Given the description of an element on the screen output the (x, y) to click on. 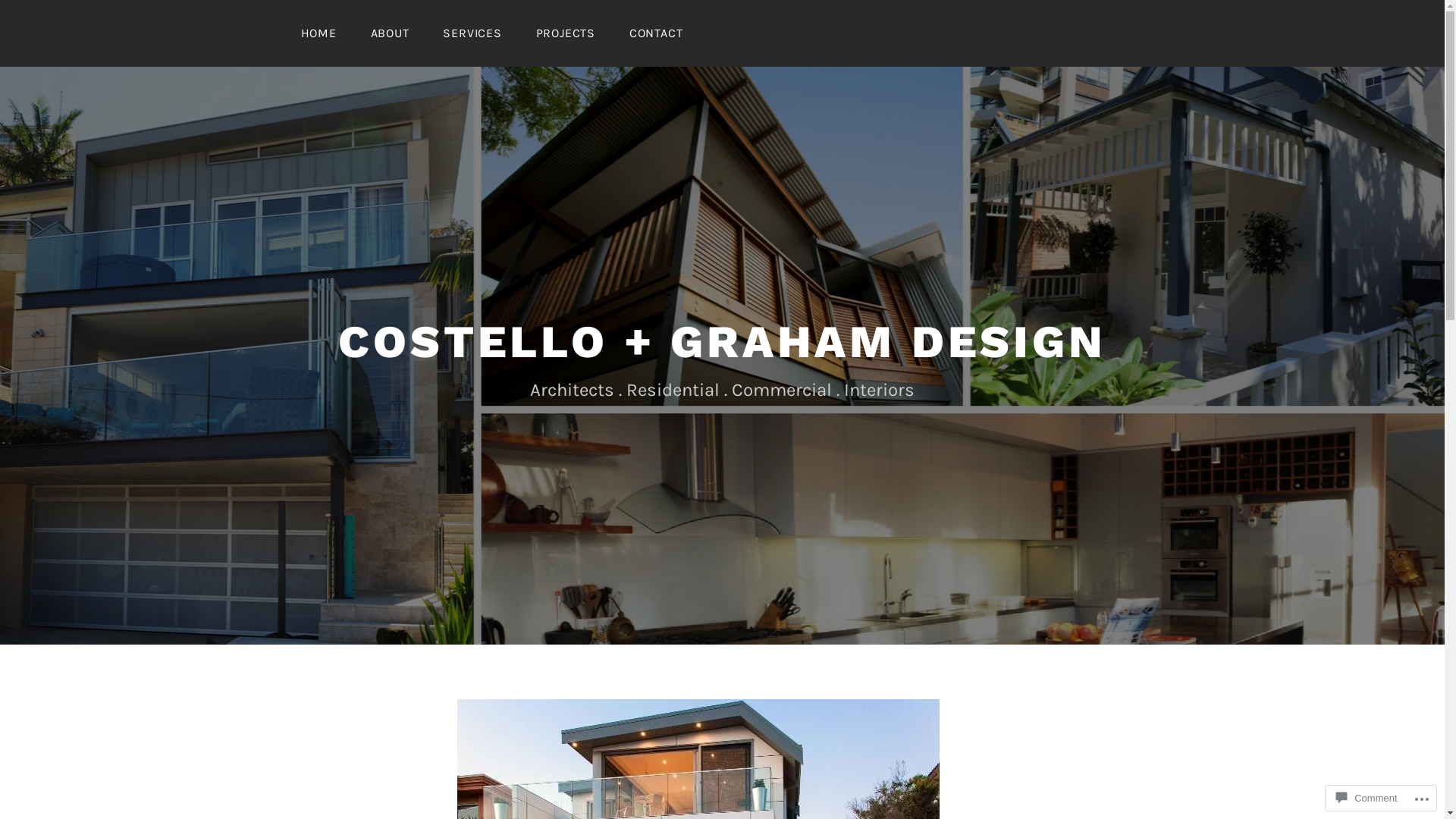
SERVICES Element type: text (471, 33)
PROJECTS Element type: text (565, 33)
HOME Element type: text (318, 33)
CONTACT Element type: text (656, 33)
ABOUT Element type: text (389, 33)
COSTELLO + GRAHAM DESIGN Element type: text (721, 341)
Comment Element type: text (1366, 797)
